Given the description of an element on the screen output the (x, y) to click on. 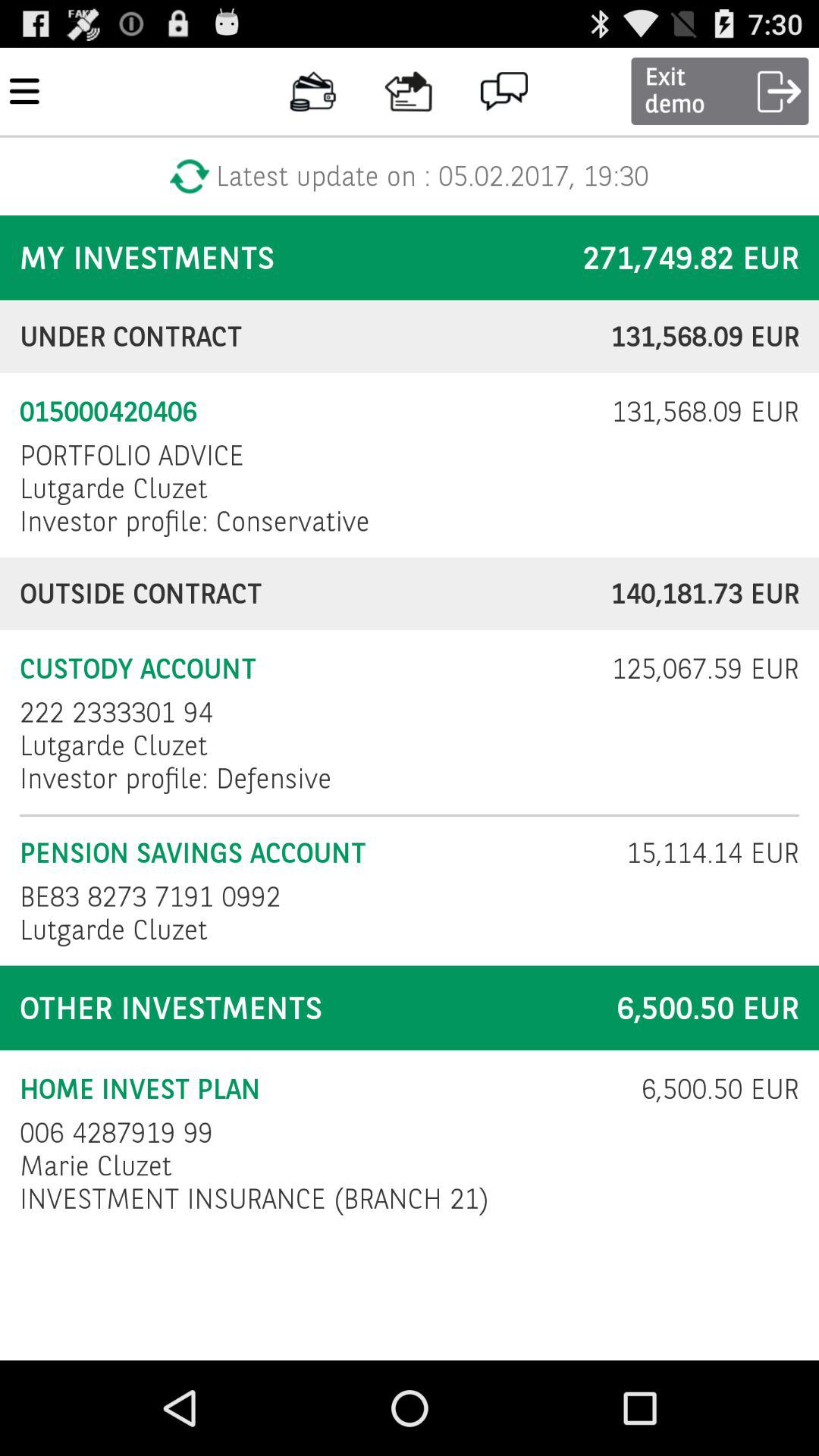
turn on checkbox next to 6 500 50 item (116, 1132)
